Given the description of an element on the screen output the (x, y) to click on. 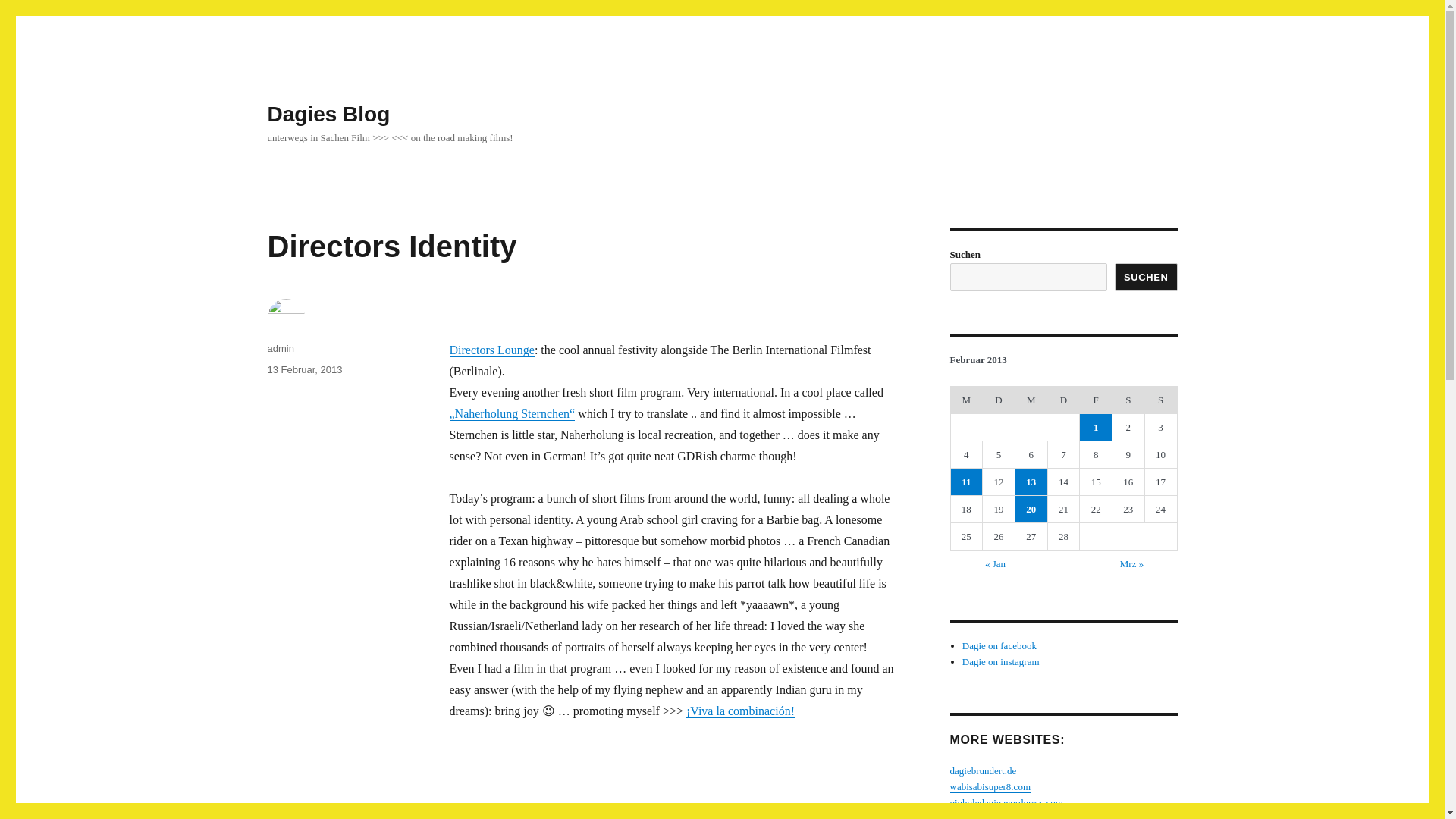
Dagie on instagram (1000, 661)
wabisabisuper8.com (989, 786)
20 (1030, 509)
dagiebrundert.de (982, 770)
Dagies Blog (328, 114)
Donnerstag (1063, 399)
Montag (966, 399)
Dagie on facebook (999, 645)
Samstag (1128, 399)
yumyumsoups.wordpress.com (1008, 816)
admin (280, 348)
pinholedagie.wordpress.com (1005, 802)
Dienstag (998, 399)
11 (966, 481)
Directors Lounge (491, 349)
